Given the description of an element on the screen output the (x, y) to click on. 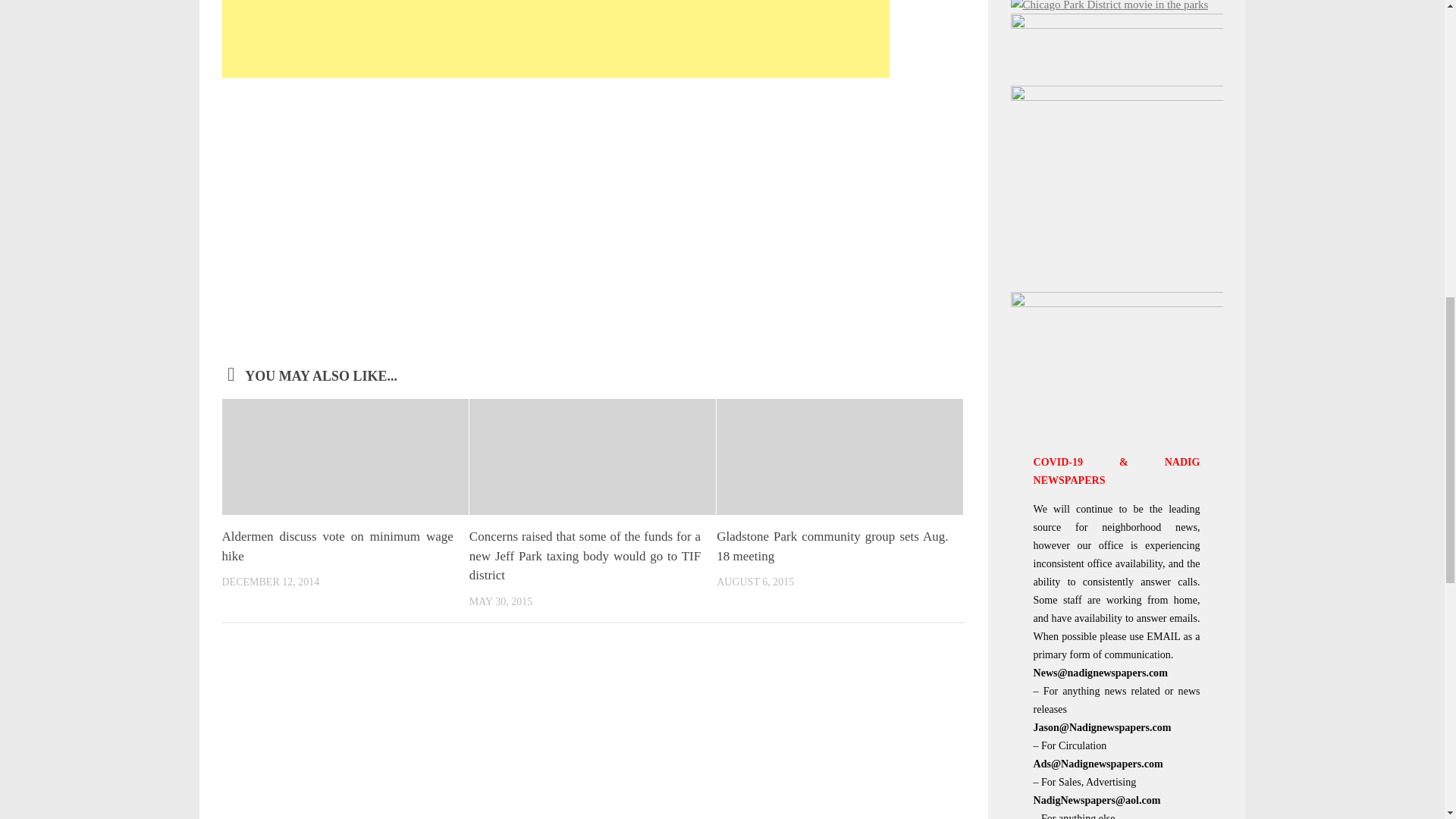
Gladstone Park community group sets Aug. 18 meeting (831, 546)
Aldermen discuss vote on minimum wage hike (336, 546)
